Given the description of an element on the screen output the (x, y) to click on. 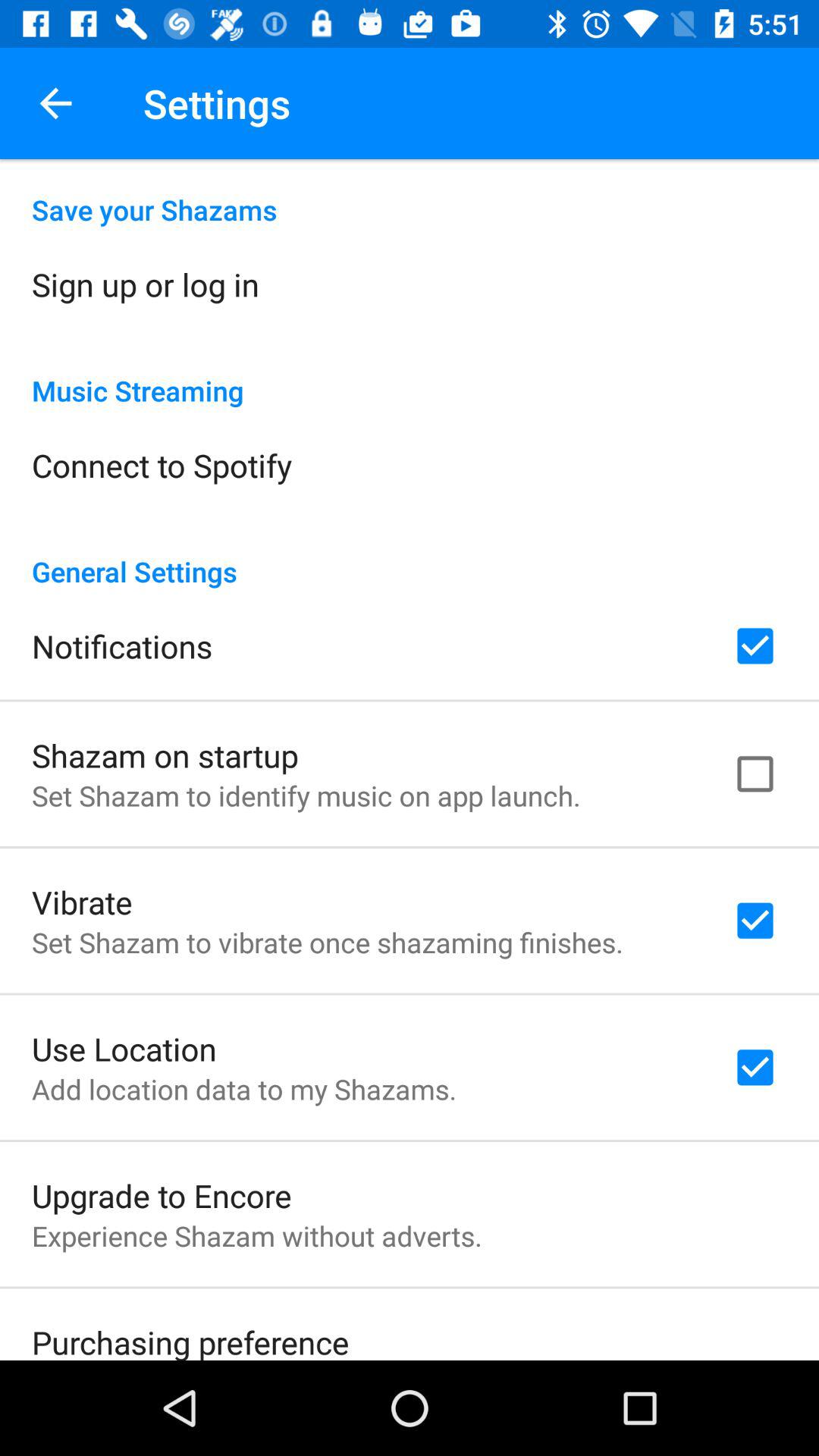
swipe until the use location (123, 1048)
